Given the description of an element on the screen output the (x, y) to click on. 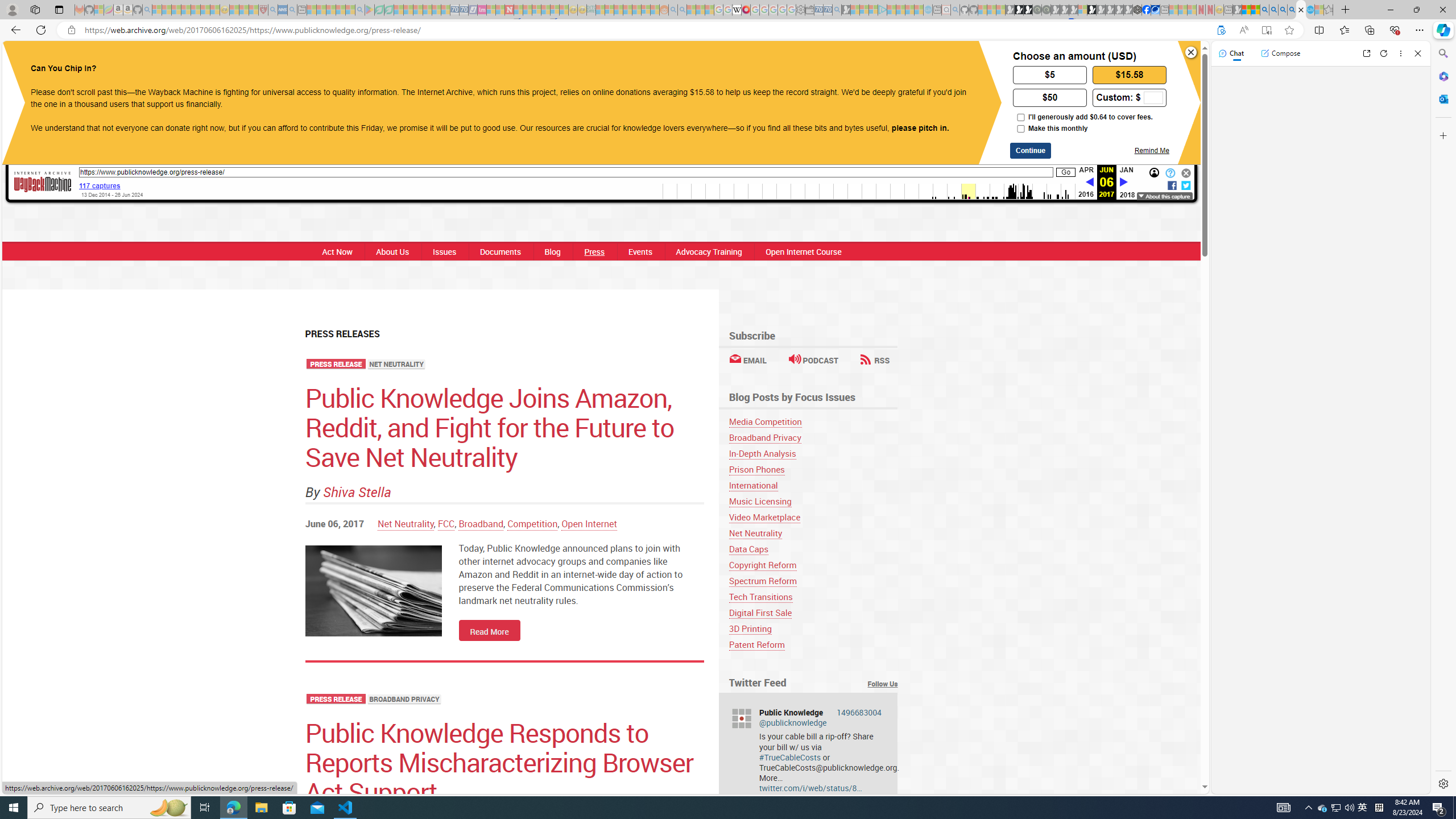
 img (373, 590)
Future Focus Report 2024 - Sleeping (1045, 9)
RSS (874, 360)
International (752, 485)
I'll generously add $0.64 to cover fees. (1020, 117)
Broadband Privacy (813, 437)
Tech Transitions (760, 596)
PODCAST (812, 360)
